Given the description of an element on the screen output the (x, y) to click on. 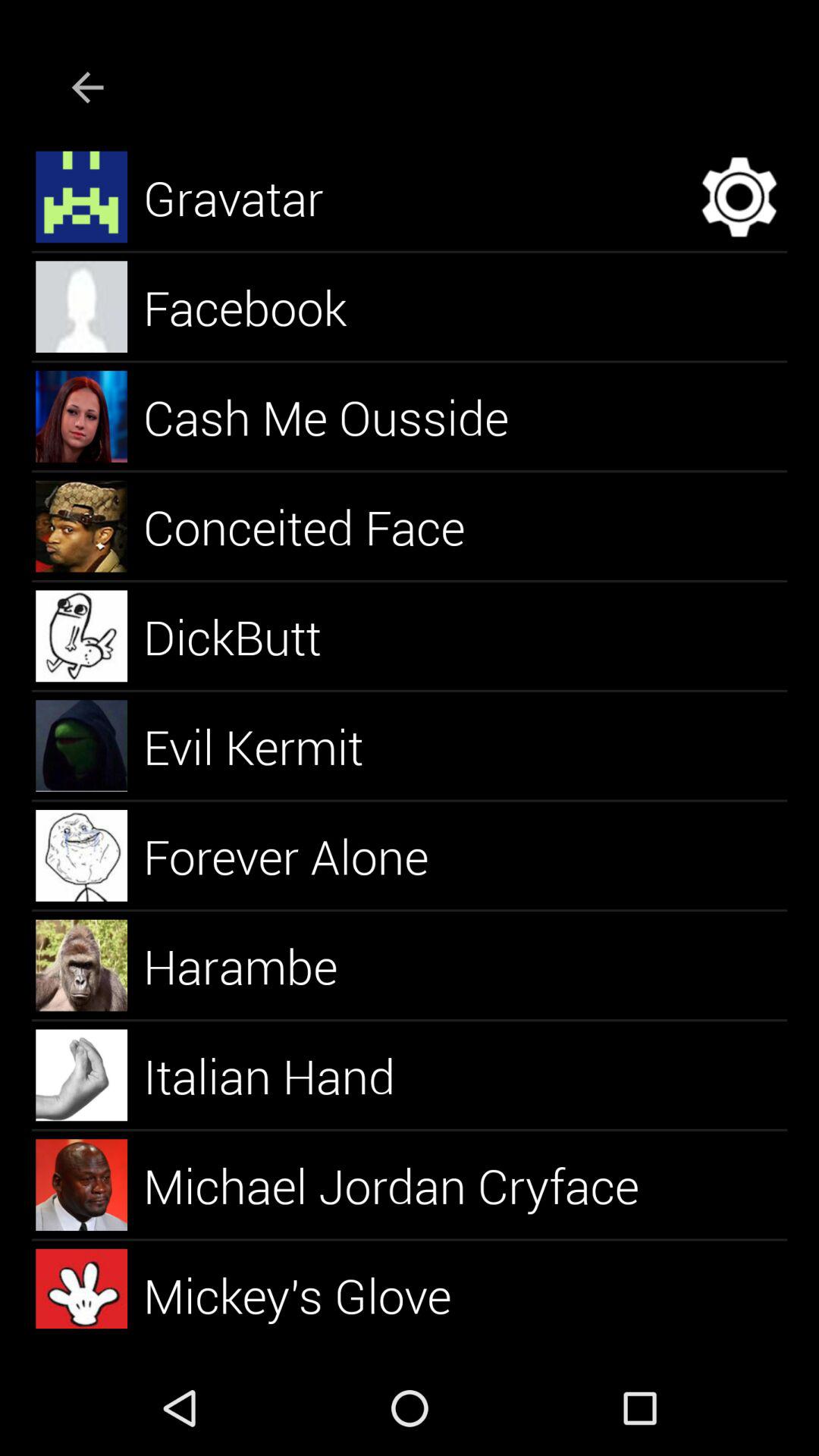
swipe to the forever alone icon (303, 855)
